Given the description of an element on the screen output the (x, y) to click on. 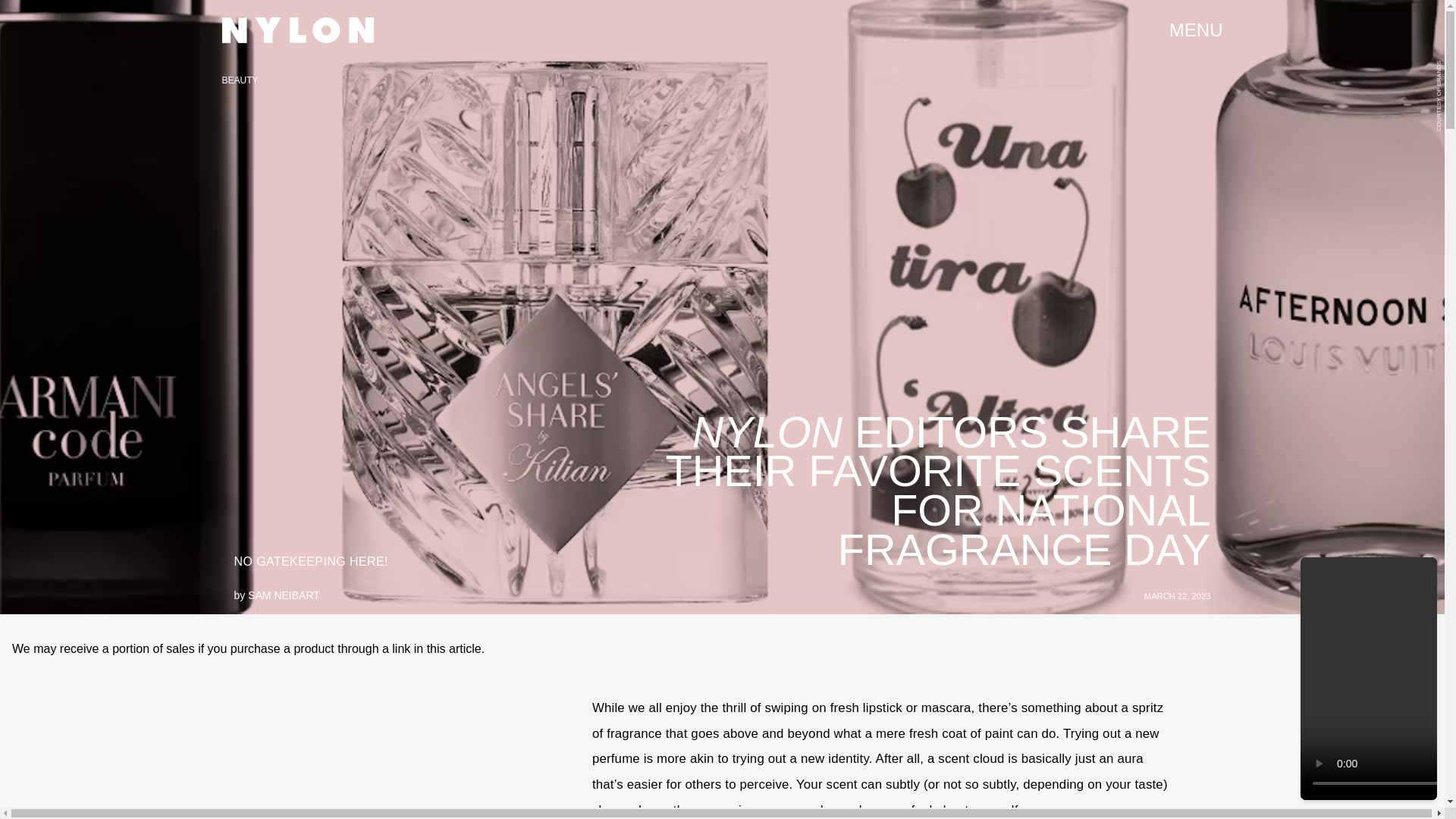
Nylon (296, 30)
SAM NEIBART (283, 594)
